Given the description of an element on the screen output the (x, y) to click on. 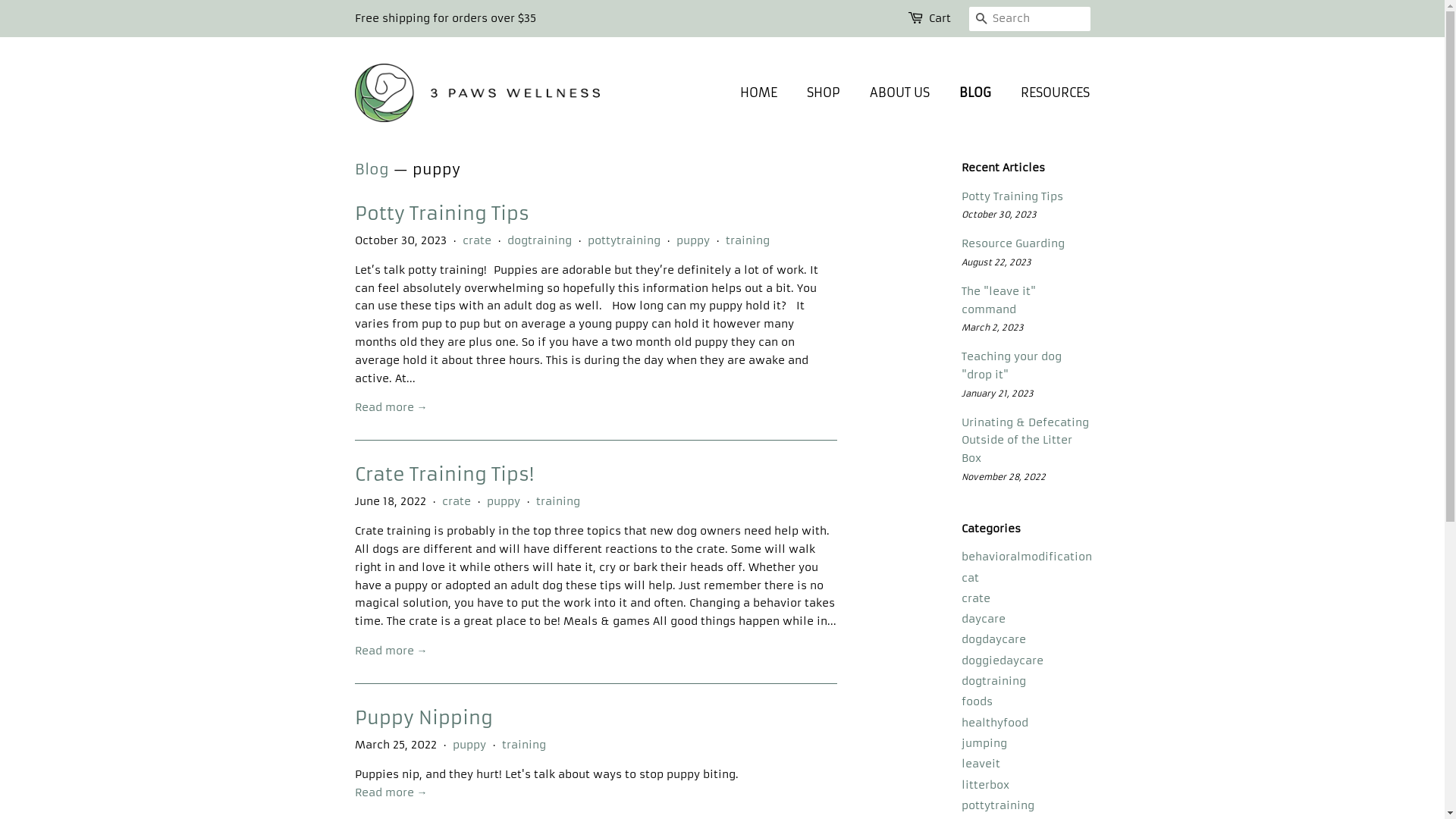
Potty Training Tips Element type: text (441, 213)
BLOG Element type: text (976, 92)
crate Element type: text (476, 240)
Resource Guarding Element type: text (1012, 243)
crate Element type: text (975, 598)
training Element type: text (746, 240)
dogdaycare Element type: text (993, 639)
Blog Element type: text (371, 169)
RESOURCES Element type: text (1049, 92)
The "leave it" command Element type: text (998, 300)
litterbox Element type: text (985, 784)
pottytraining Element type: text (622, 240)
cat Element type: text (970, 577)
dogtraining Element type: text (993, 680)
daycare Element type: text (983, 618)
healthyfood Element type: text (994, 722)
HOME Element type: text (766, 92)
pottytraining Element type: text (997, 805)
Puppy Nipping Element type: text (423, 717)
foods Element type: text (976, 701)
Potty Training Tips Element type: text (1012, 196)
training Element type: text (557, 501)
leaveit Element type: text (980, 763)
puppy Element type: text (468, 744)
Cart Element type: text (939, 18)
crate Element type: text (455, 501)
puppy Element type: text (692, 240)
jumping Element type: text (984, 742)
doggiedaycare Element type: text (1002, 660)
Urinating & Defecating Outside of the Litter Box Element type: text (1024, 440)
puppy Element type: text (503, 501)
training Element type: text (524, 744)
SEARCH Element type: text (981, 18)
SHOP Element type: text (825, 92)
behavioralmodification Element type: text (1026, 556)
Crate Training Tips! Element type: text (443, 474)
Teaching your dog "drop it" Element type: text (1011, 365)
dogtraining Element type: text (538, 240)
ABOUT US Element type: text (901, 92)
